Given the description of an element on the screen output the (x, y) to click on. 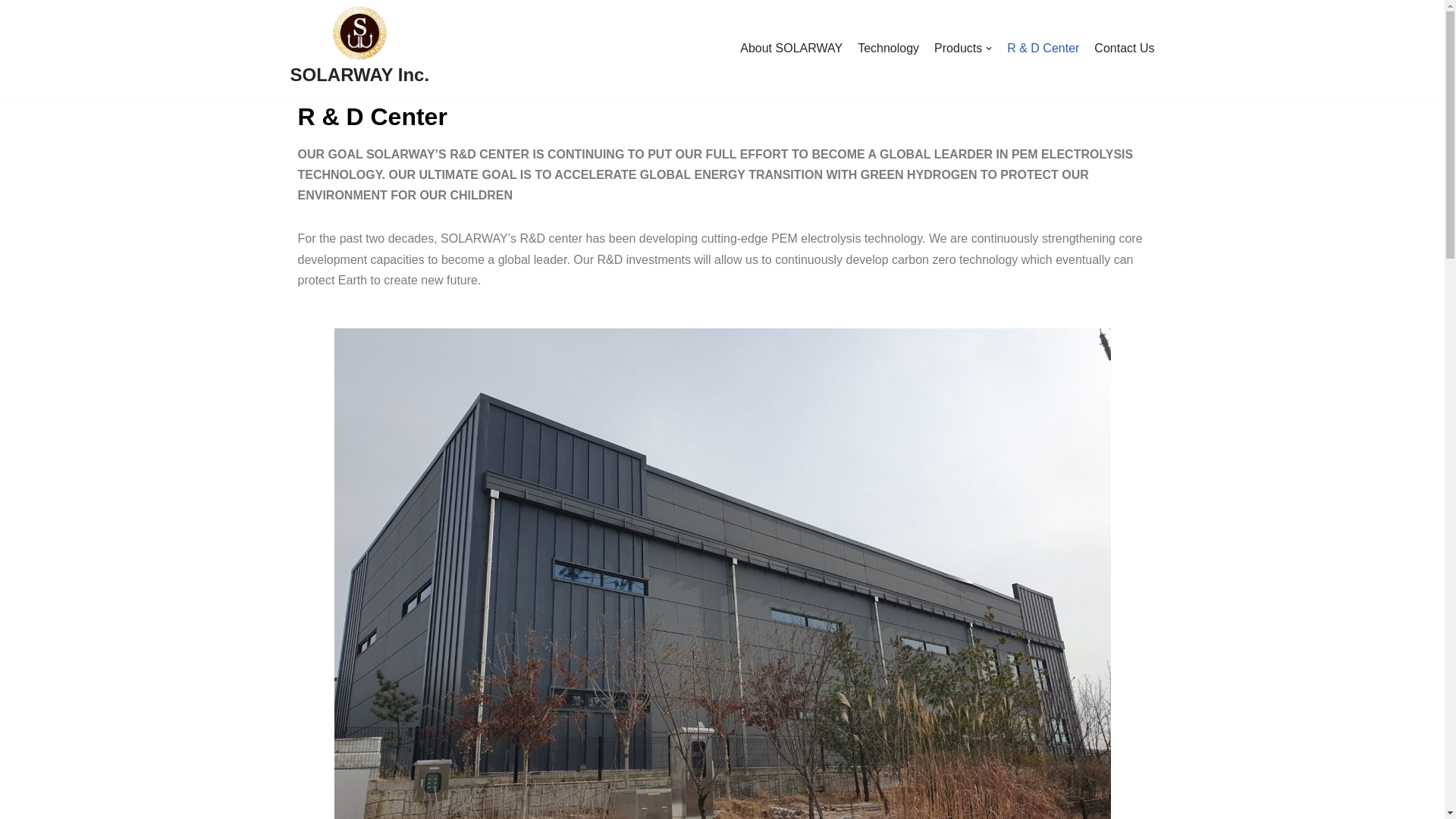
SOLARWAY Inc. (359, 47)
Technology (887, 48)
Contact Us (1124, 48)
SOLARWAY Inc. (359, 47)
Products (962, 48)
About SOLARWAY (791, 48)
